Given the description of an element on the screen output the (x, y) to click on. 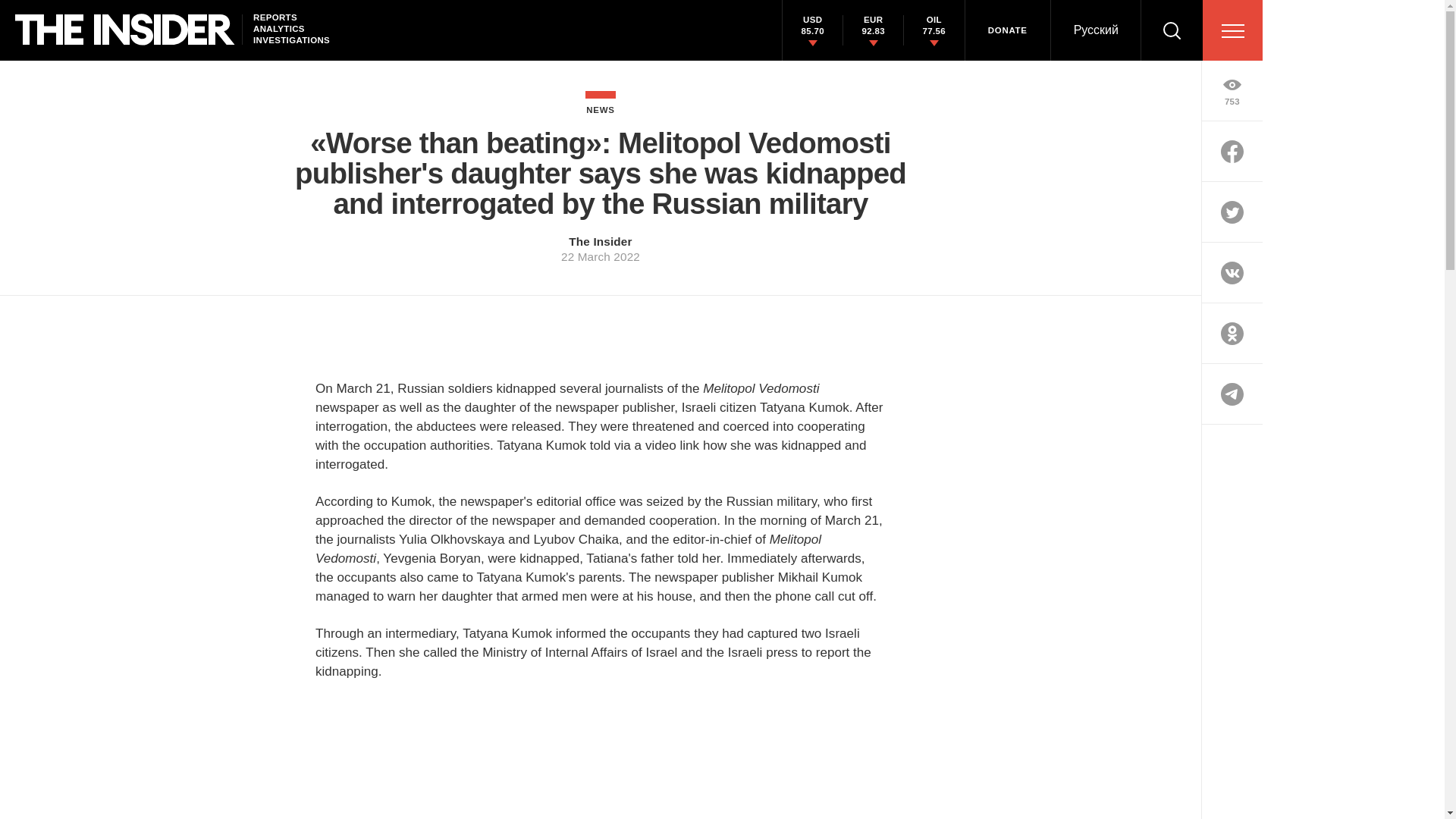
DONATE (1006, 30)
NEWS (600, 101)
The Insider (600, 241)
